Given the description of an element on the screen output the (x, y) to click on. 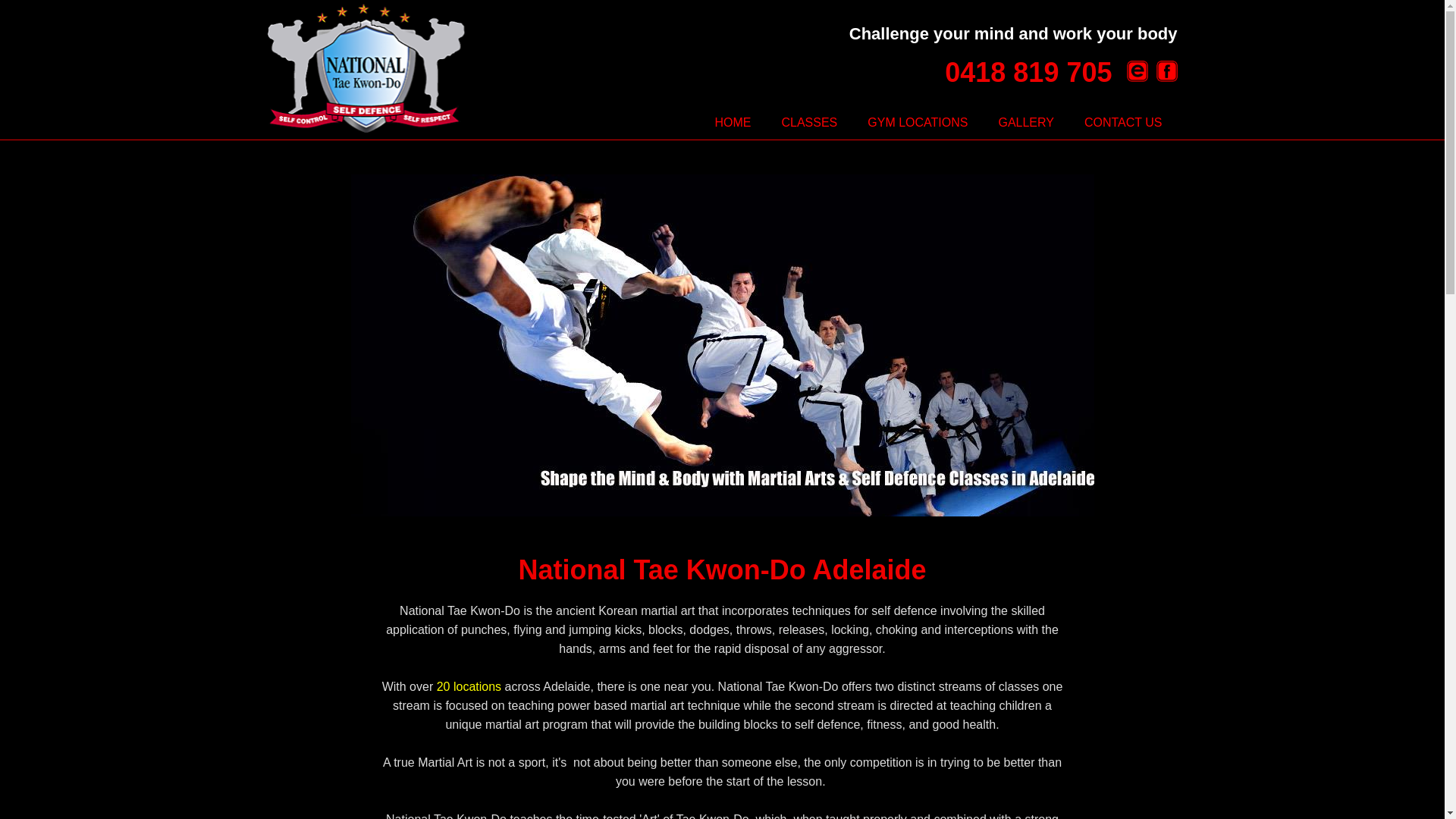
HOME Element type: text (732, 122)
GALLERY Element type: text (1025, 122)
CONTACT US Element type: text (1123, 122)
GYM LOCATIONS Element type: text (917, 122)
CLASSES Element type: text (808, 122)
